Given the description of an element on the screen output the (x, y) to click on. 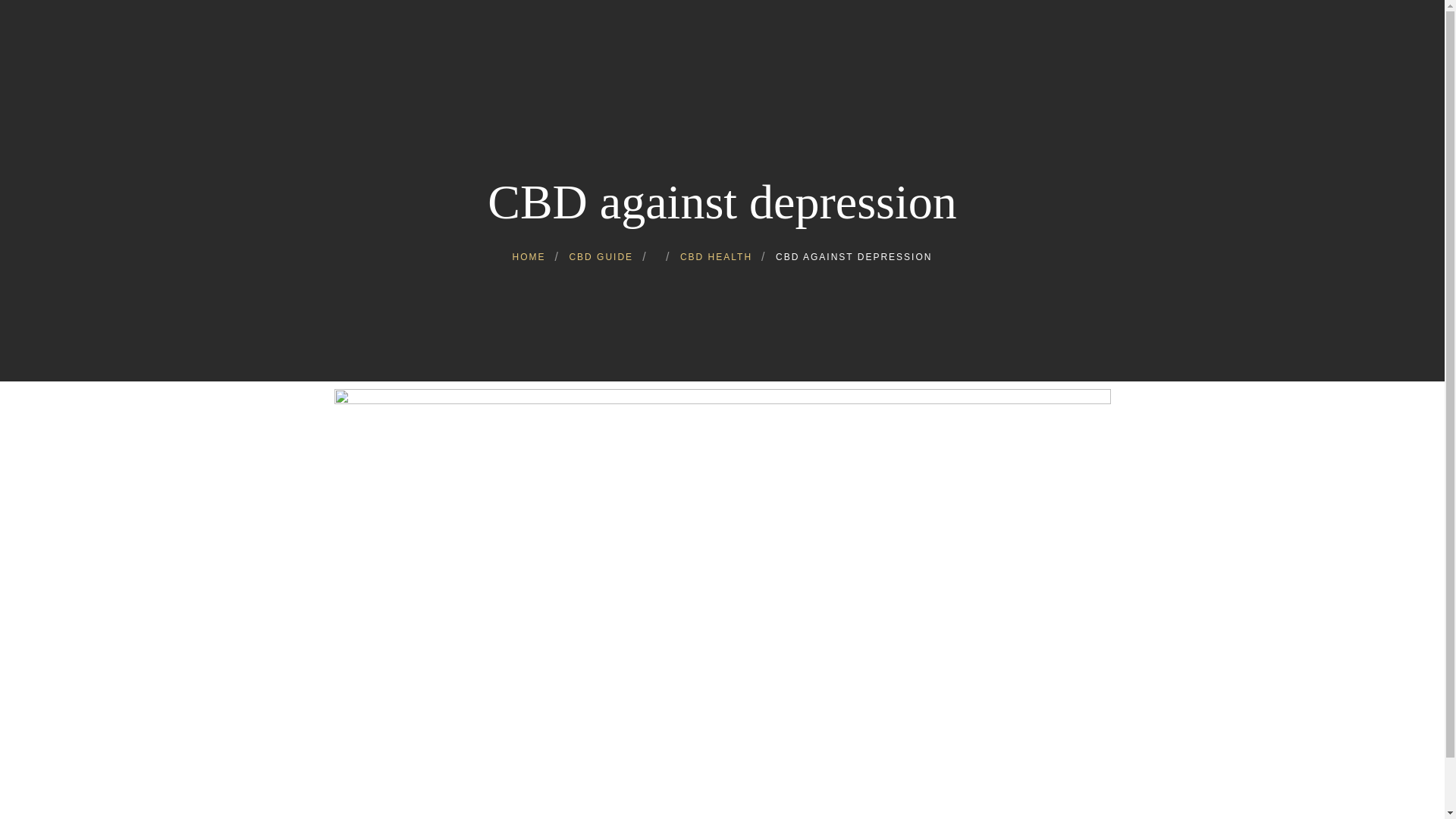
Go to CBD Guide. (601, 256)
Go to the CBD Health Category archives. (715, 256)
Go to Home. (529, 256)
